Given the description of an element on the screen output the (x, y) to click on. 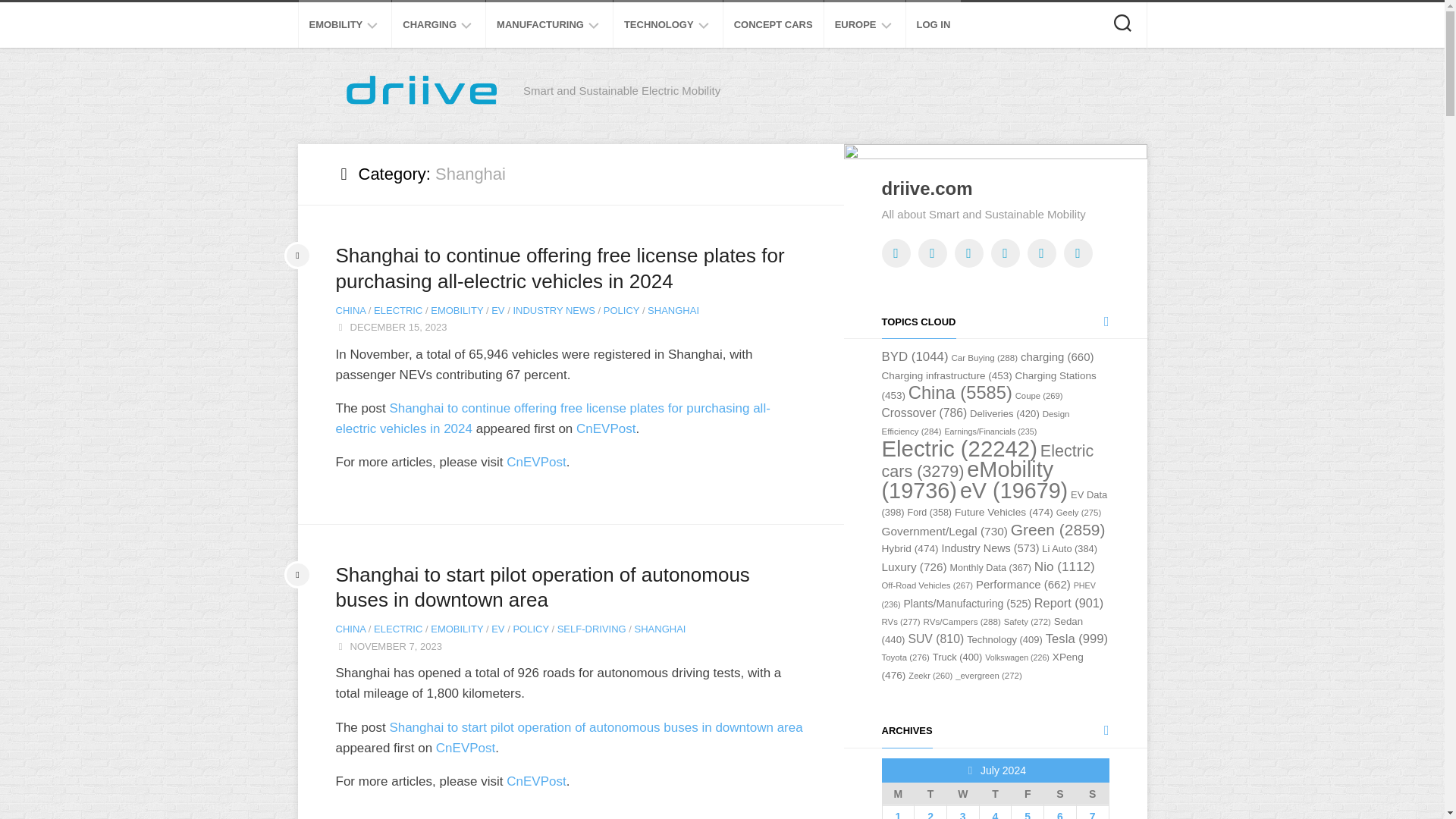
Twitter (895, 252)
LinkedIn (967, 252)
Facebook (931, 252)
Pinterest (1040, 252)
MANUFACTURING (539, 24)
CHARGING (430, 24)
EMOBILITY (335, 24)
youtube (1004, 252)
